Given the description of an element on the screen output the (x, y) to click on. 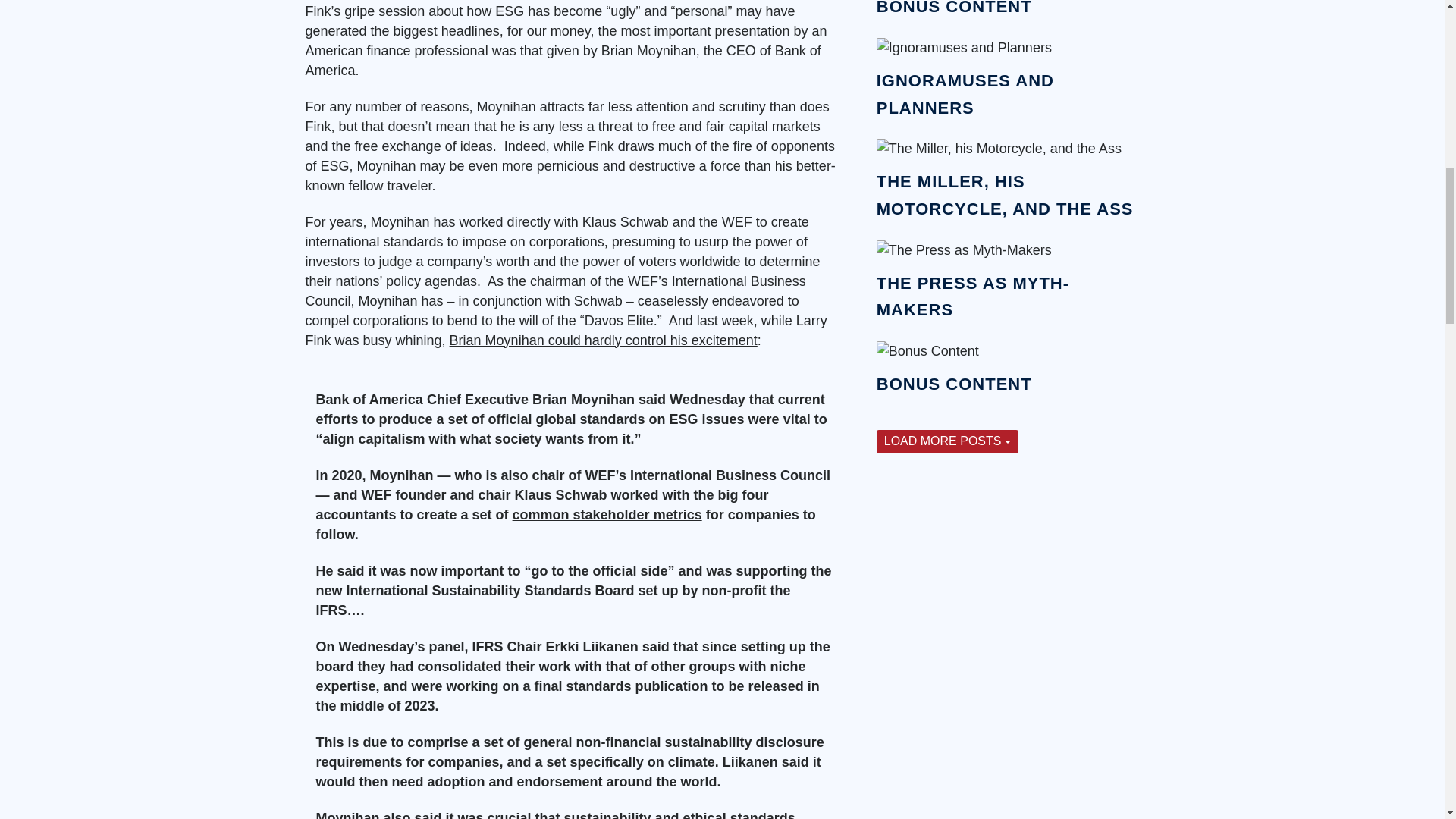
common stakeholder metrics (606, 514)
BONUS CONTENT (954, 7)
Brian Moynihan could hardly control his excitement (603, 340)
IGNORAMUSES AND PLANNERS (965, 94)
